Given the description of an element on the screen output the (x, y) to click on. 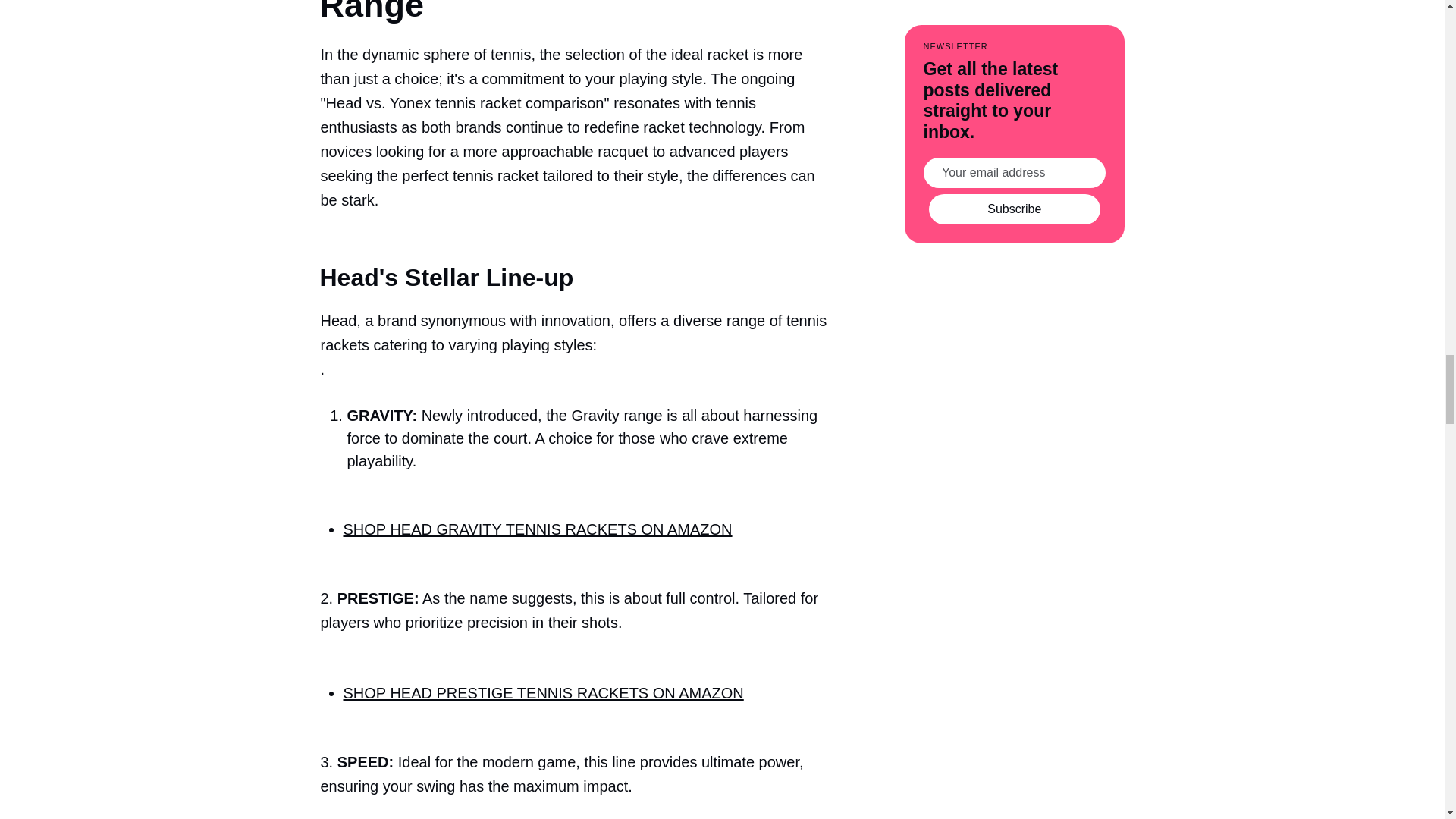
SHOP HEAD PRESTIGE TENNIS RACKETS ON AMAZON (542, 692)
SHOP HEAD GRAVITY TENNIS RACKETS ON AMAZON (537, 528)
